Given the description of an element on the screen output the (x, y) to click on. 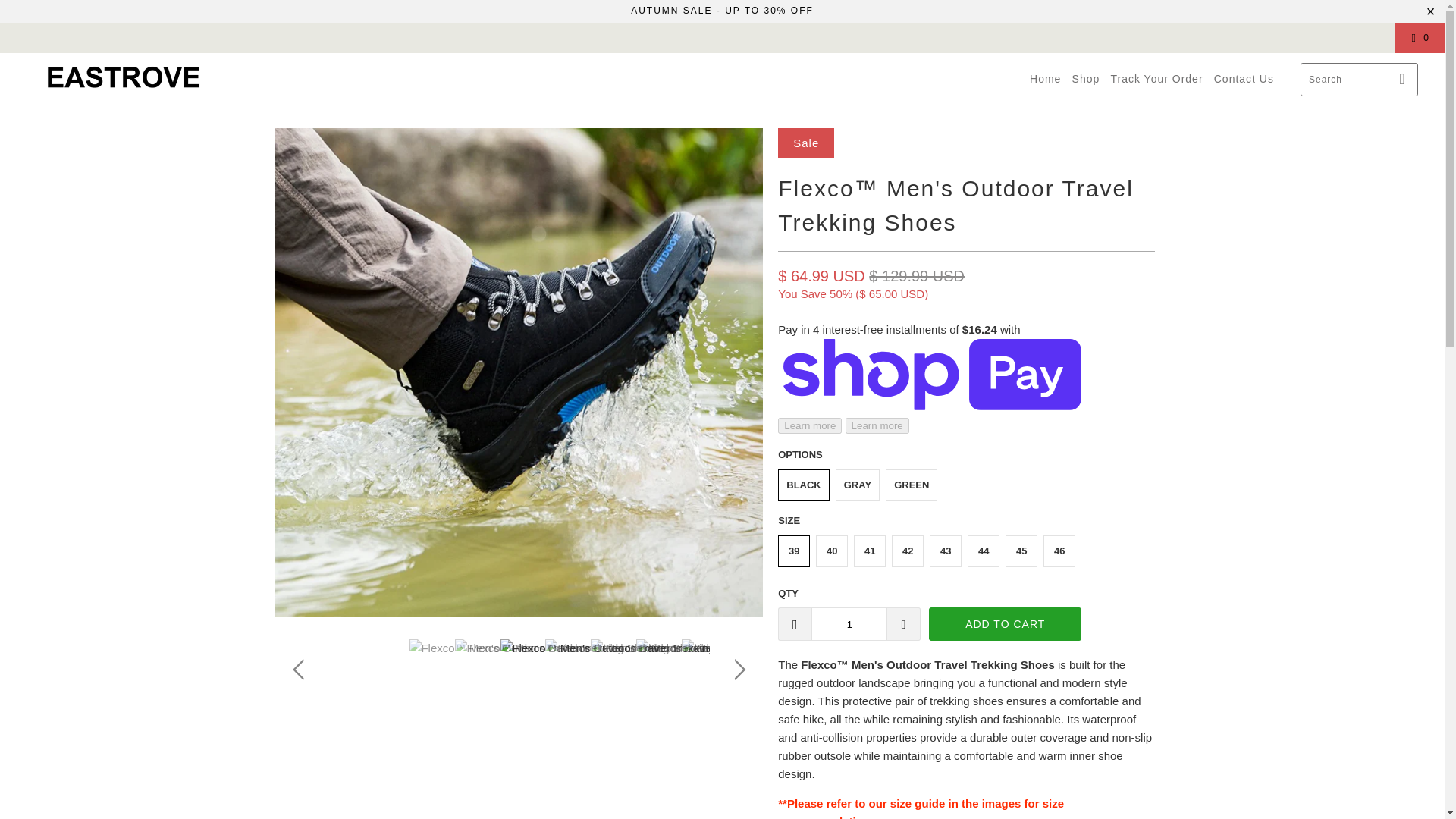
EastRove (122, 76)
ADD TO CART (1004, 623)
1 (848, 623)
Contact Us (1244, 78)
Track Your Order (1155, 78)
